Given the description of an element on the screen output the (x, y) to click on. 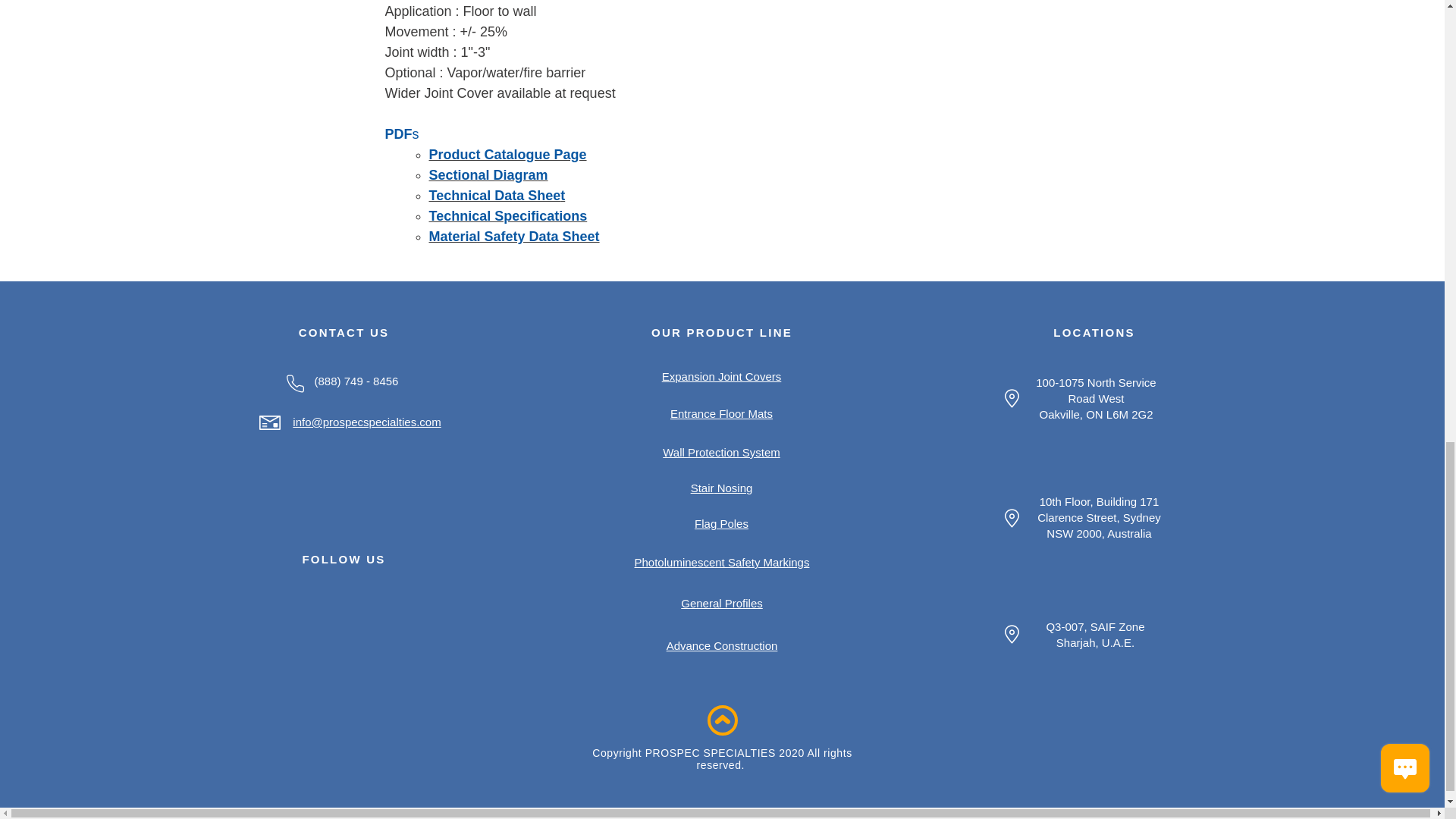
Sectional Diagram (488, 174)
Product Catalogue Page (507, 154)
Technical Data Shee (494, 195)
Technical Specifications (508, 215)
Material Safety Data Sheet (514, 236)
